Given the description of an element on the screen output the (x, y) to click on. 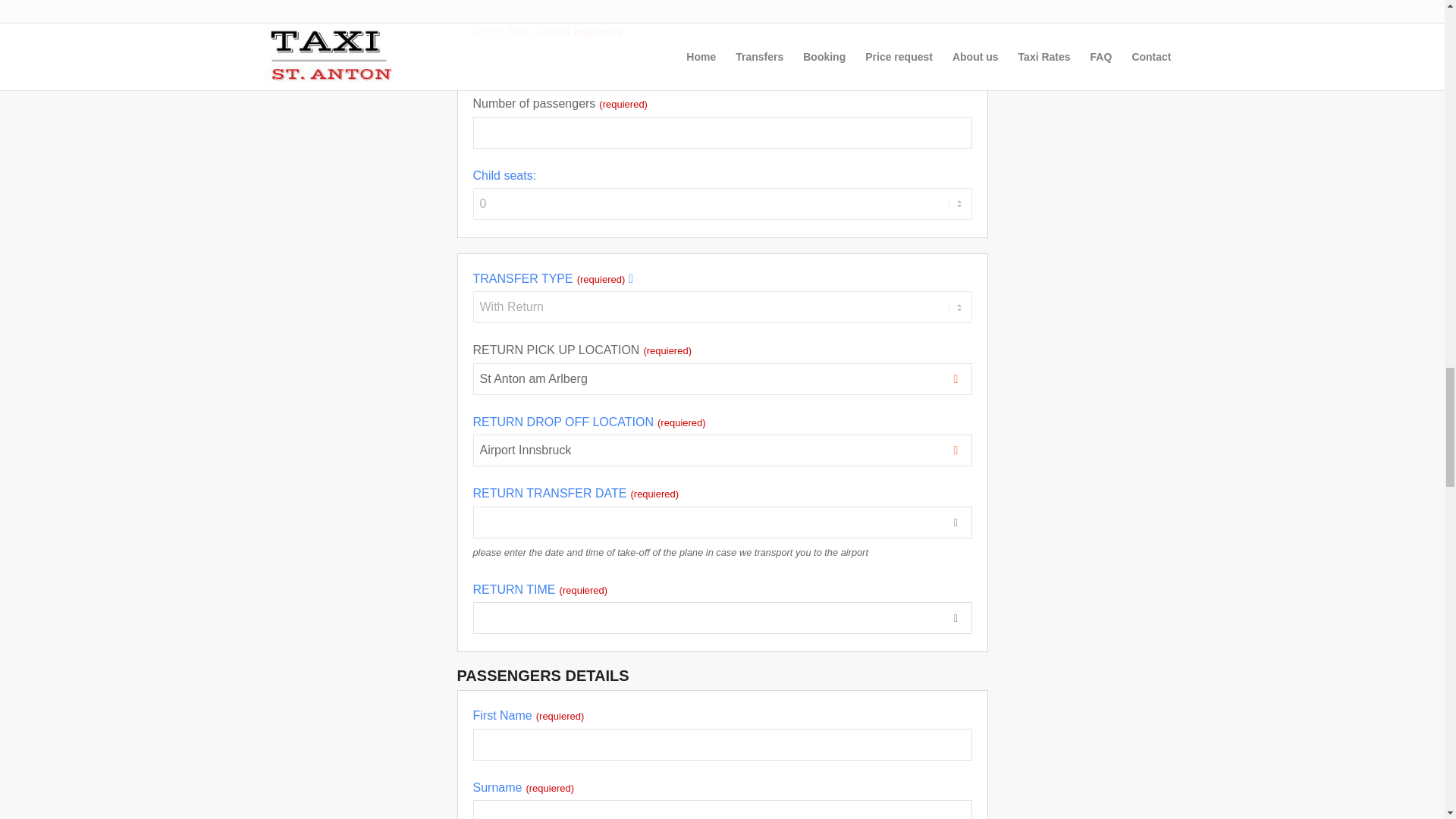
St Anton am Arlberg (721, 379)
Airport Innsbruck (721, 450)
